Given the description of an element on the screen output the (x, y) to click on. 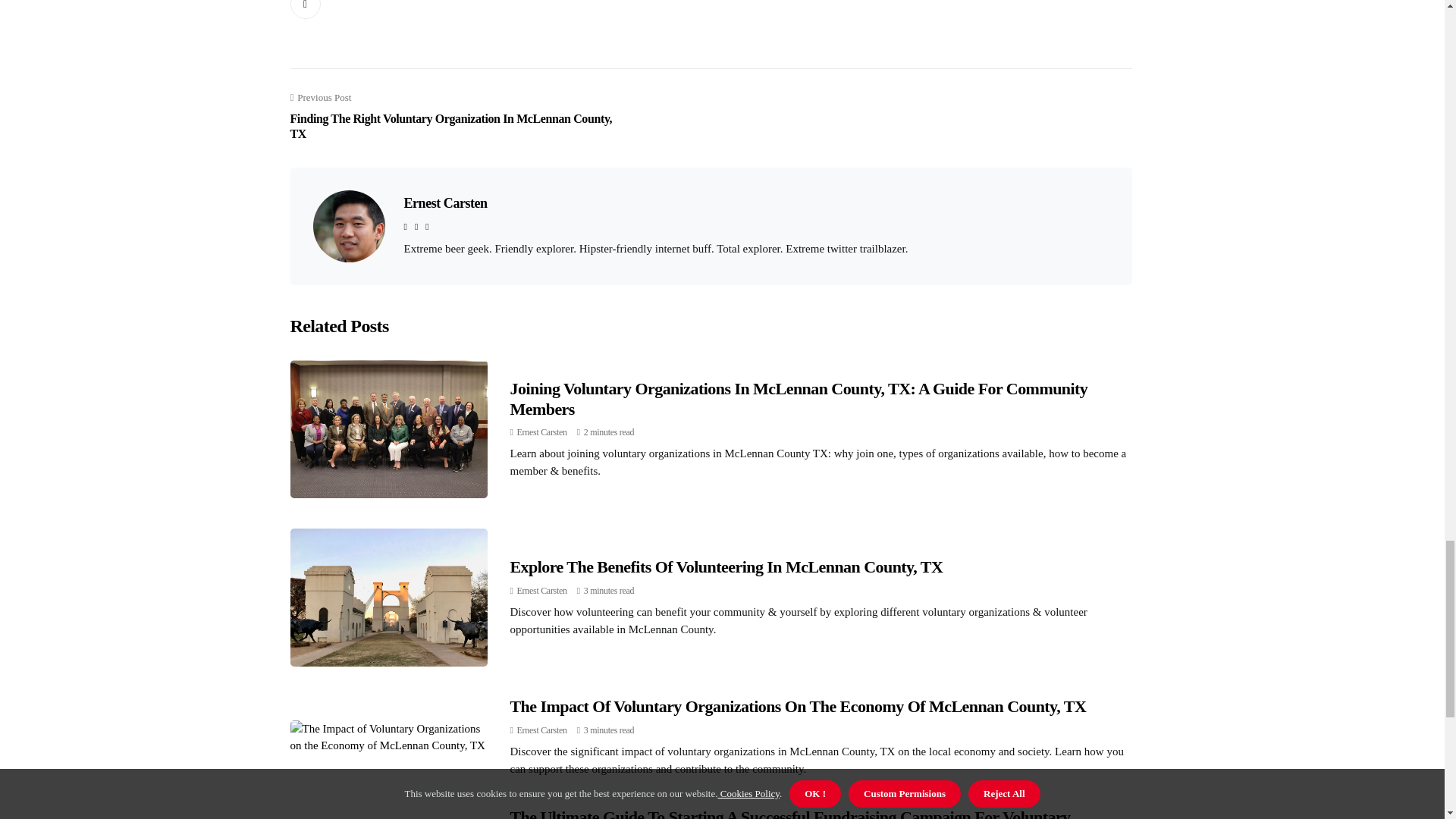
Ernest Carsten (541, 590)
Explore The Benefits Of Volunteering In McLennan County, TX (725, 566)
Ernest Carsten (541, 729)
Ernest Carsten (541, 431)
Posts by Ernest Carsten (541, 590)
Posts by Ernest Carsten (541, 729)
